Given the description of an element on the screen output the (x, y) to click on. 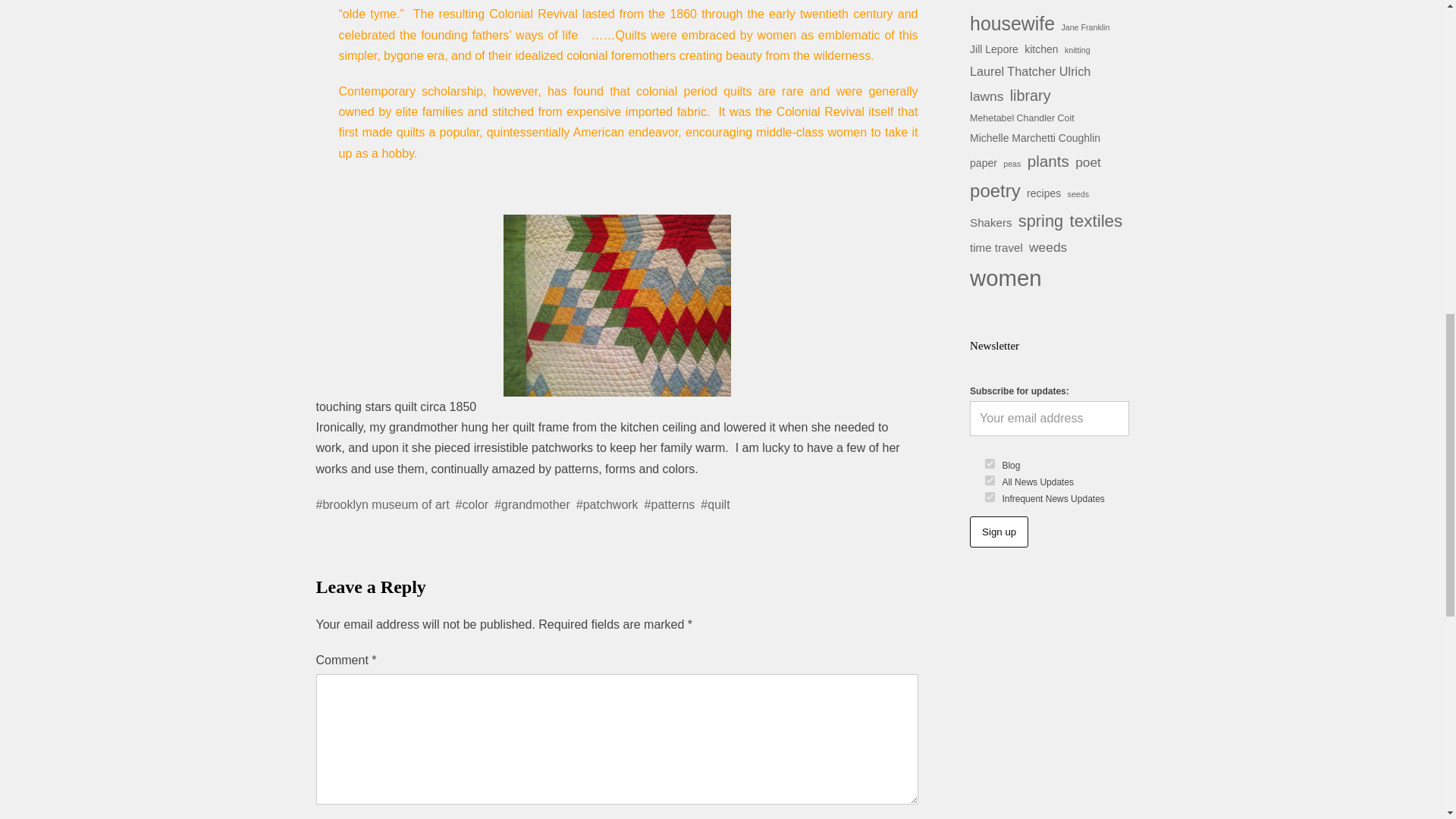
14265 (989, 480)
Sign up (998, 531)
14261 (989, 463)
14269 (989, 497)
